Given the description of an element on the screen output the (x, y) to click on. 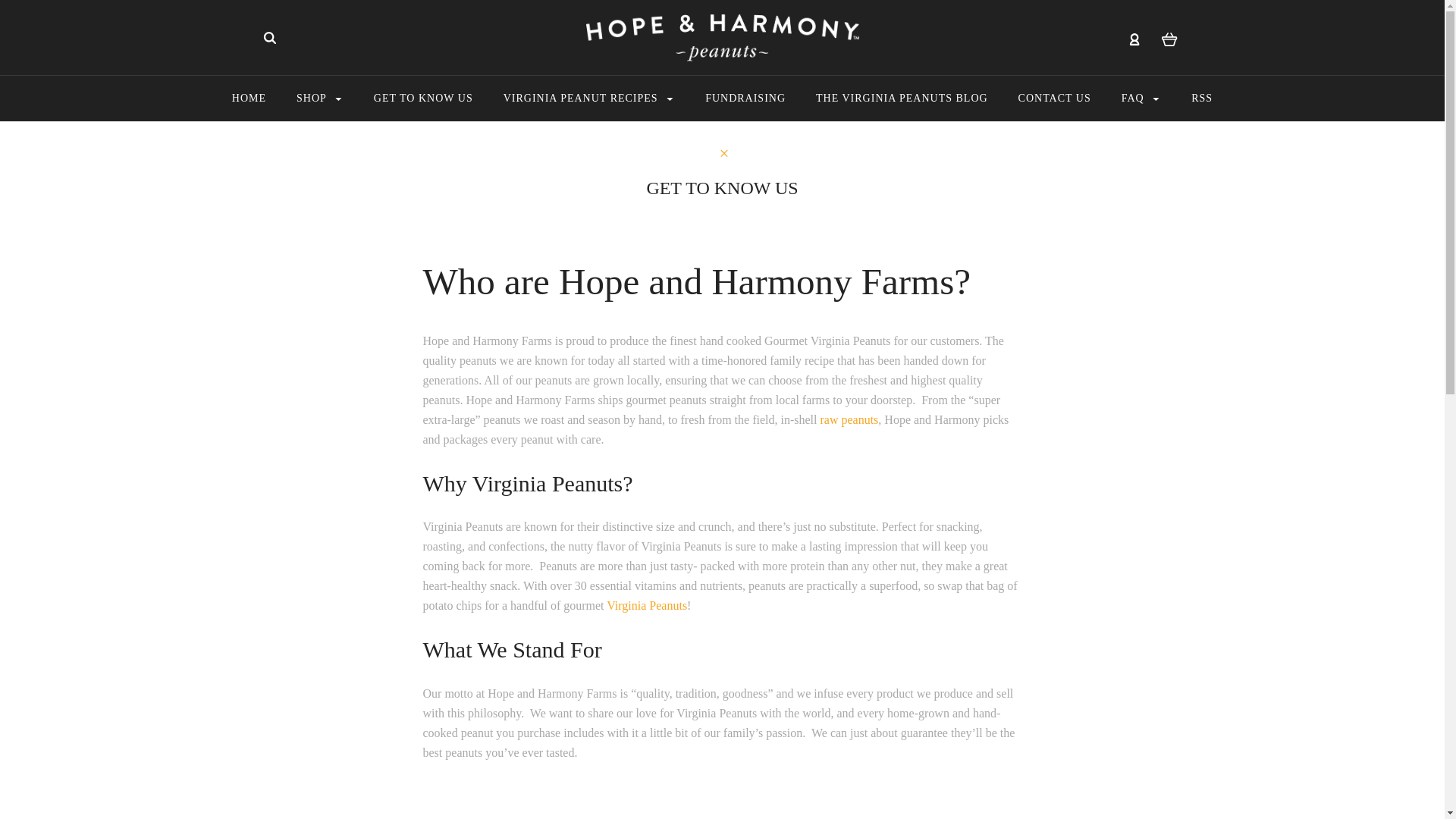
HOME (248, 99)
0 (1169, 38)
SHOP (319, 99)
